Given the description of an element on the screen output the (x, y) to click on. 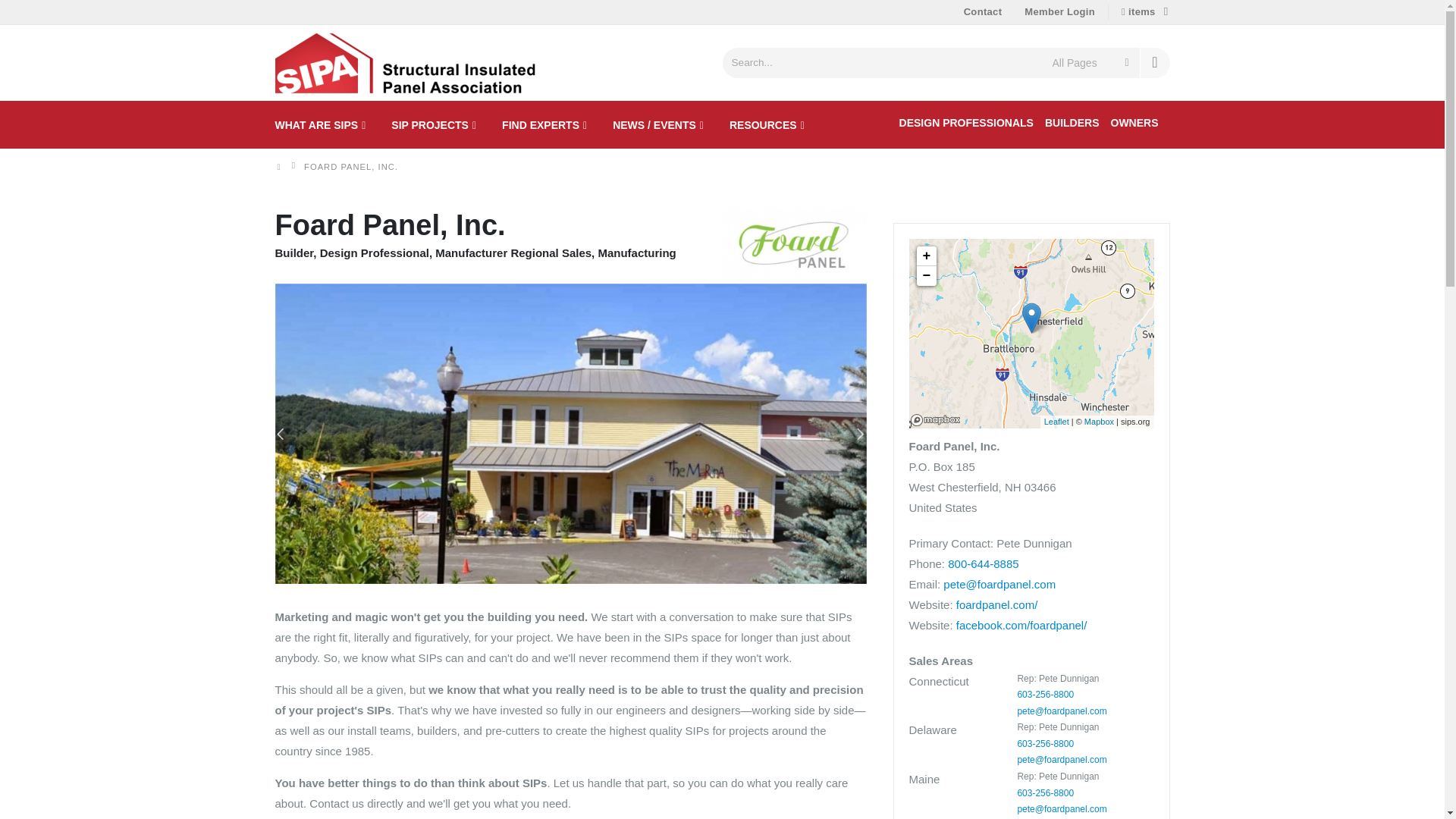
BUILDERS (1072, 121)
WHAT ARE SIPS (320, 123)
Search (1153, 61)
SIP PROJECTS (433, 123)
Zoom out (925, 275)
Member Login (1059, 11)
items (1145, 11)
Zoom in (925, 255)
A JS library for interactive maps (1055, 420)
FIND EXPERTS (544, 123)
DESIGN PROFESSIONALS (966, 121)
Contact (983, 11)
OWNERS (1133, 121)
